Given the description of an element on the screen output the (x, y) to click on. 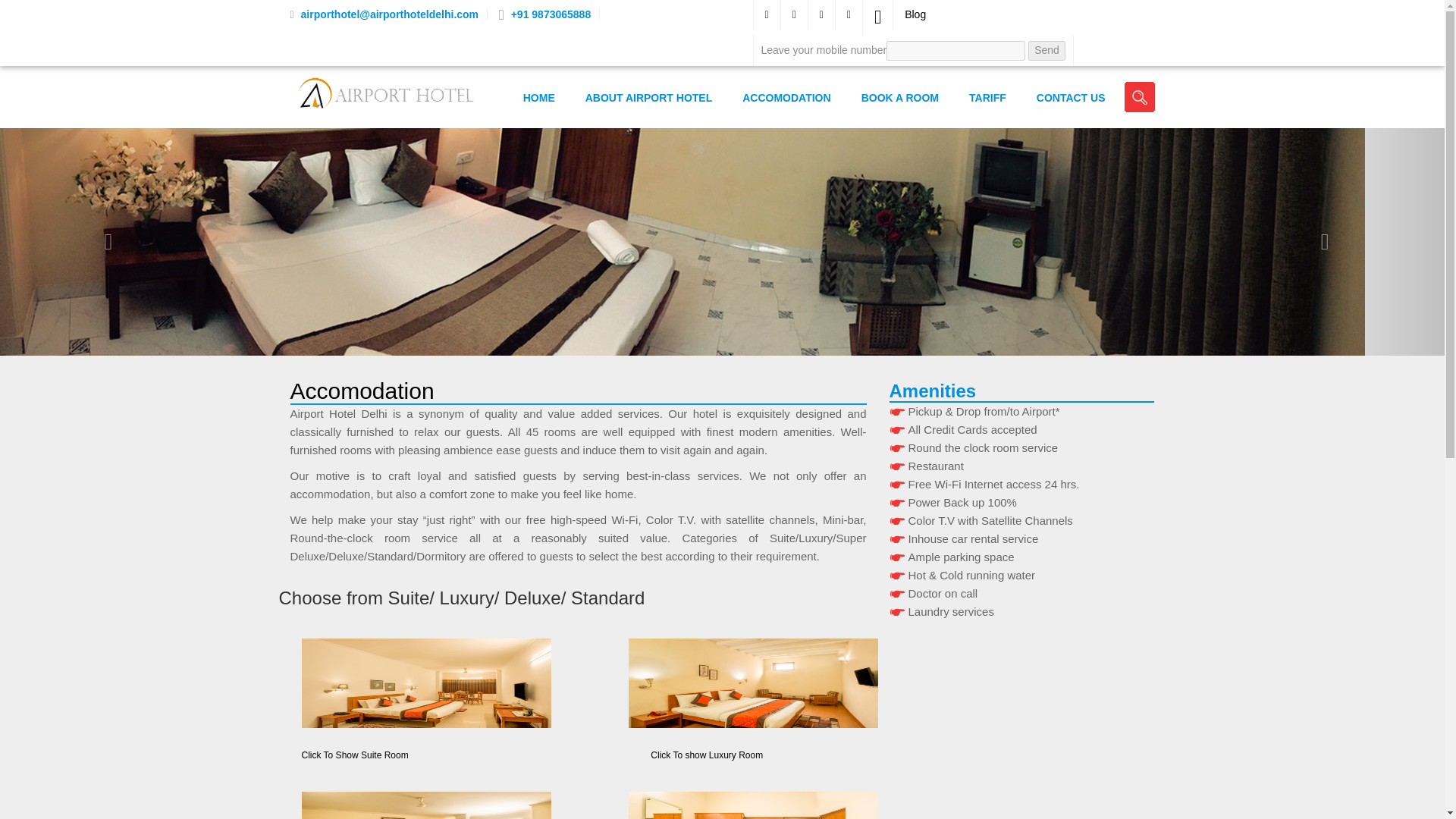
Rechercher (1139, 96)
CONTACT US (1071, 96)
Click To Show Standard Room (752, 797)
Click To Show Suite Room (403, 691)
ABOUT AIRPORT HOTEL (648, 96)
Click To show Luxury Room (752, 691)
Blog (913, 14)
ACCOMODATION (785, 96)
BOOK A ROOM (899, 96)
TARIFF (987, 96)
HOME (539, 96)
Rechercher (1139, 96)
Send (1046, 50)
Click To Show Deluxe Room (403, 797)
